Given the description of an element on the screen output the (x, y) to click on. 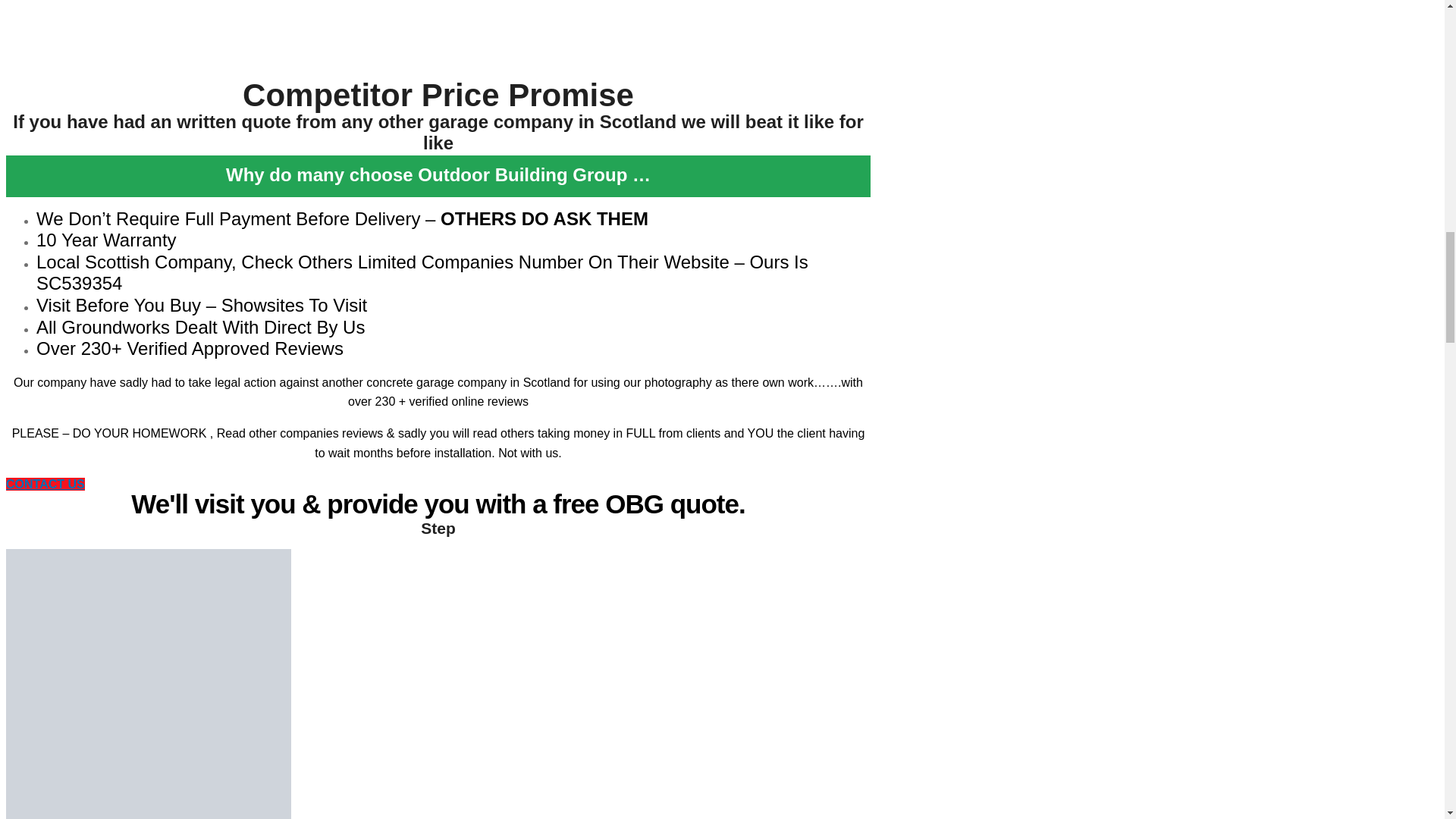
CONTACT US (44, 483)
